Given the description of an element on the screen output the (x, y) to click on. 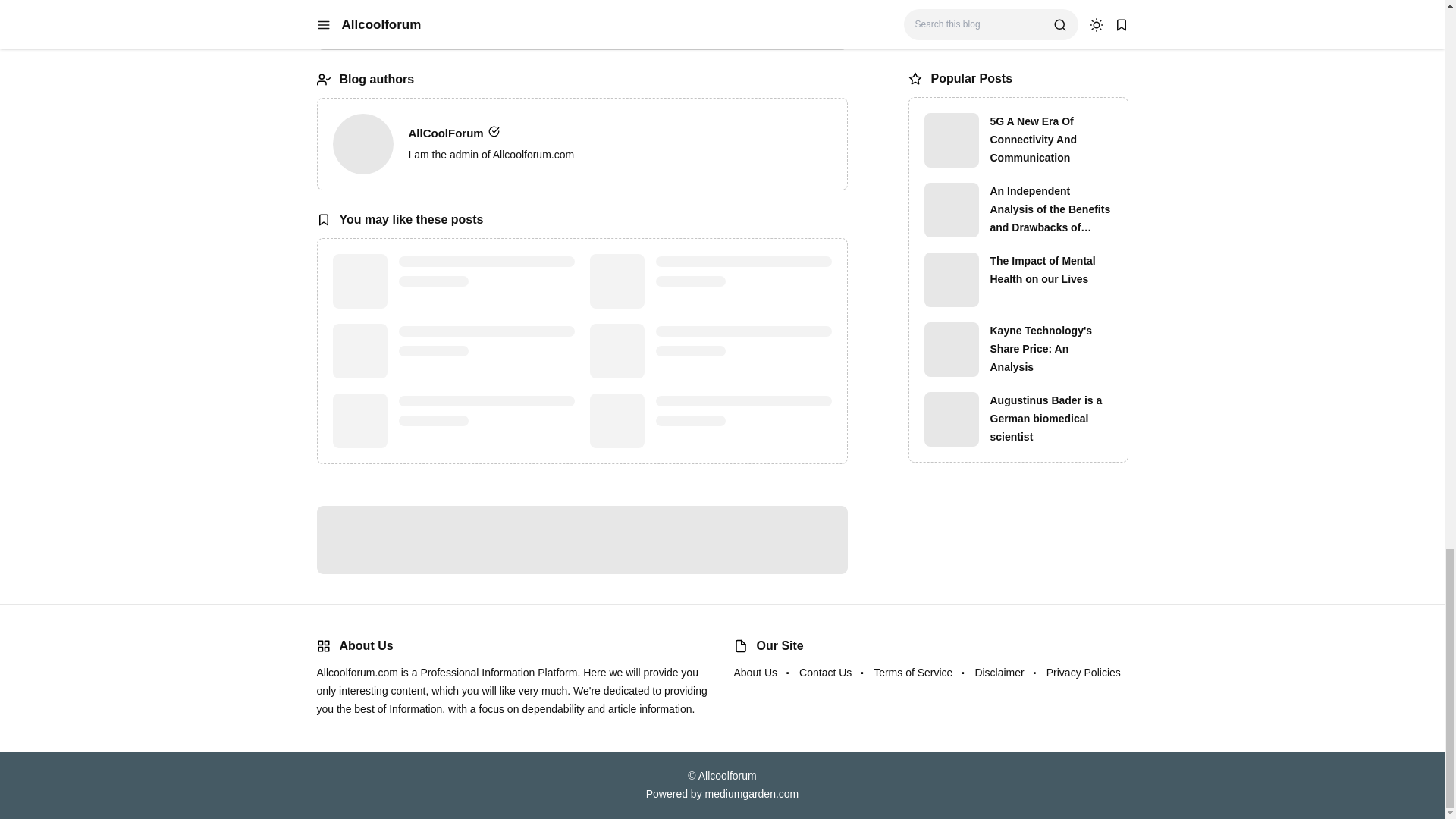
AllCoolForum (619, 133)
Post a Comment (582, 540)
Older Posts (448, 31)
AllCoolForum (362, 143)
Older Posts (448, 31)
Newer Posts (712, 31)
Newer Posts (712, 31)
